Given the description of an element on the screen output the (x, y) to click on. 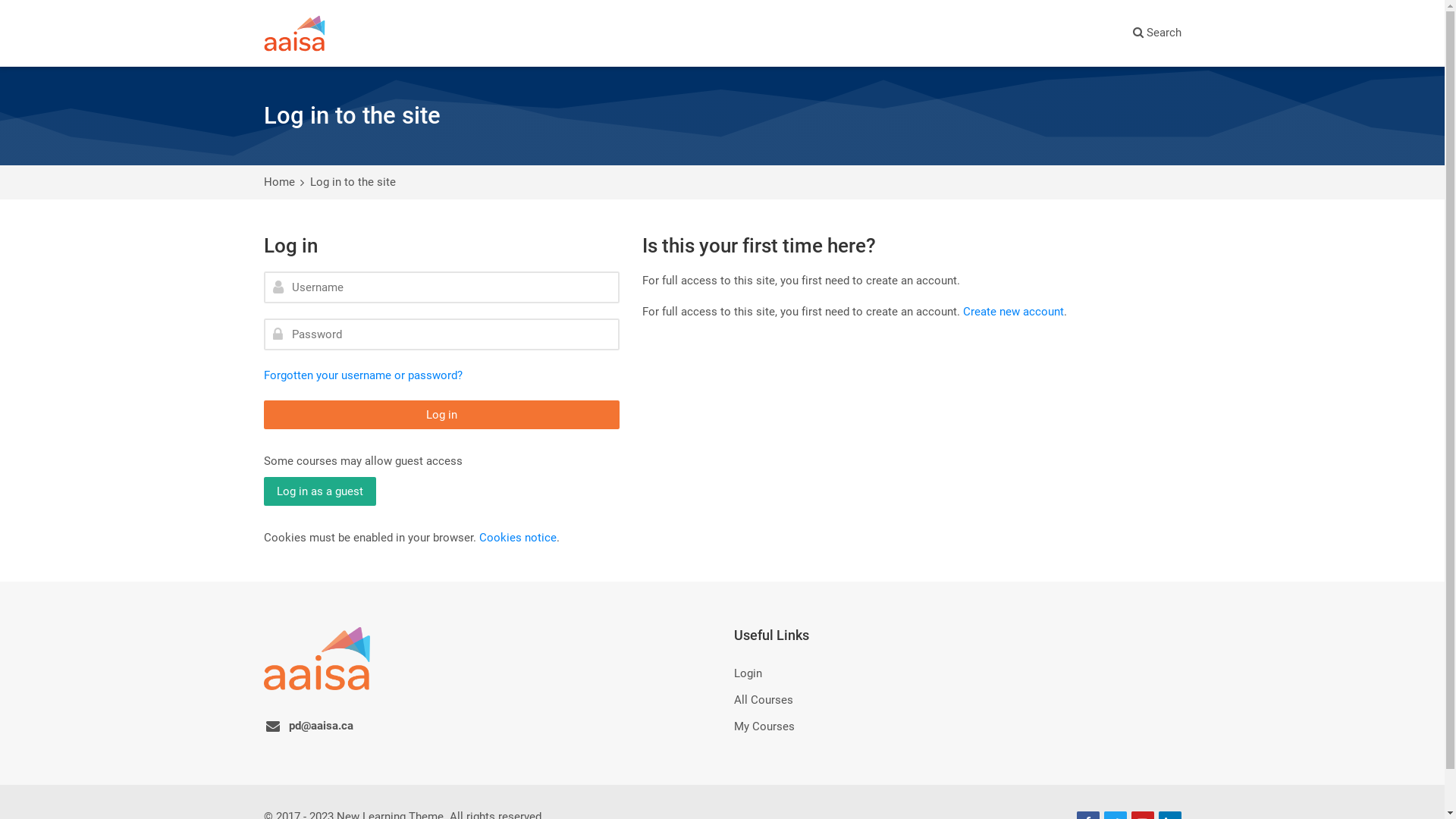
Skip to create new account Element type: text (262, 270)
Create new account Element type: text (1013, 311)
Cookies notice Element type: text (517, 537)
All Courses Element type: text (763, 699)
My Courses Element type: text (764, 726)
Search Element type: text (1156, 33)
Log in Element type: text (441, 414)
AAISA Learns Element type: hover (294, 33)
Forgotten your username or password? Element type: text (362, 375)
Home Element type: text (278, 181)
Log in as a guest Element type: text (319, 490)
Login Element type: text (748, 673)
